Given the description of an element on the screen output the (x, y) to click on. 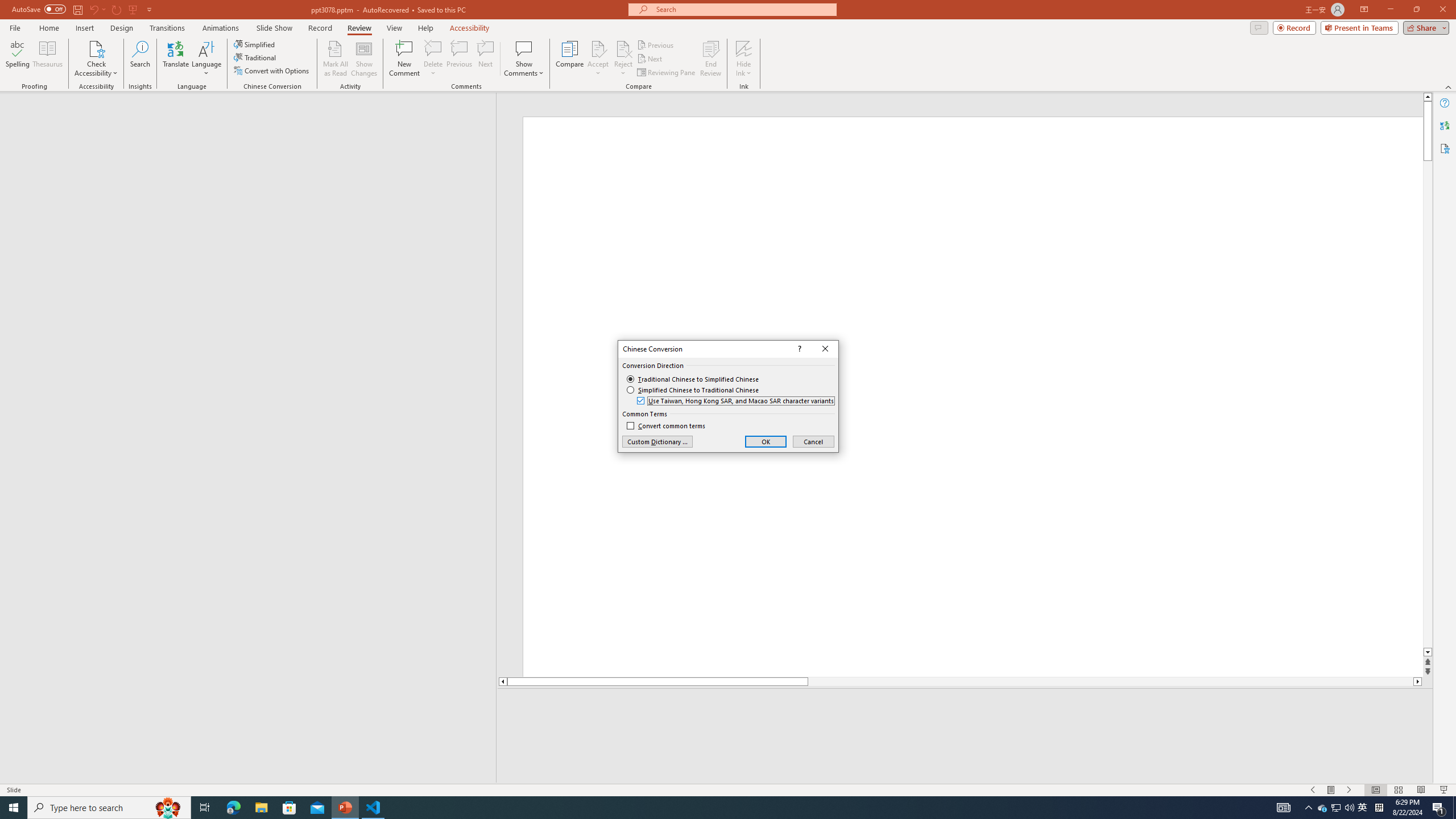
Reject (622, 58)
Compare (569, 58)
Use Taiwan, Hong Kong SAR, and Macao SAR character variants (735, 400)
Next (649, 58)
Translate (175, 58)
Accept (598, 58)
Show Changes (363, 58)
